Given the description of an element on the screen output the (x, y) to click on. 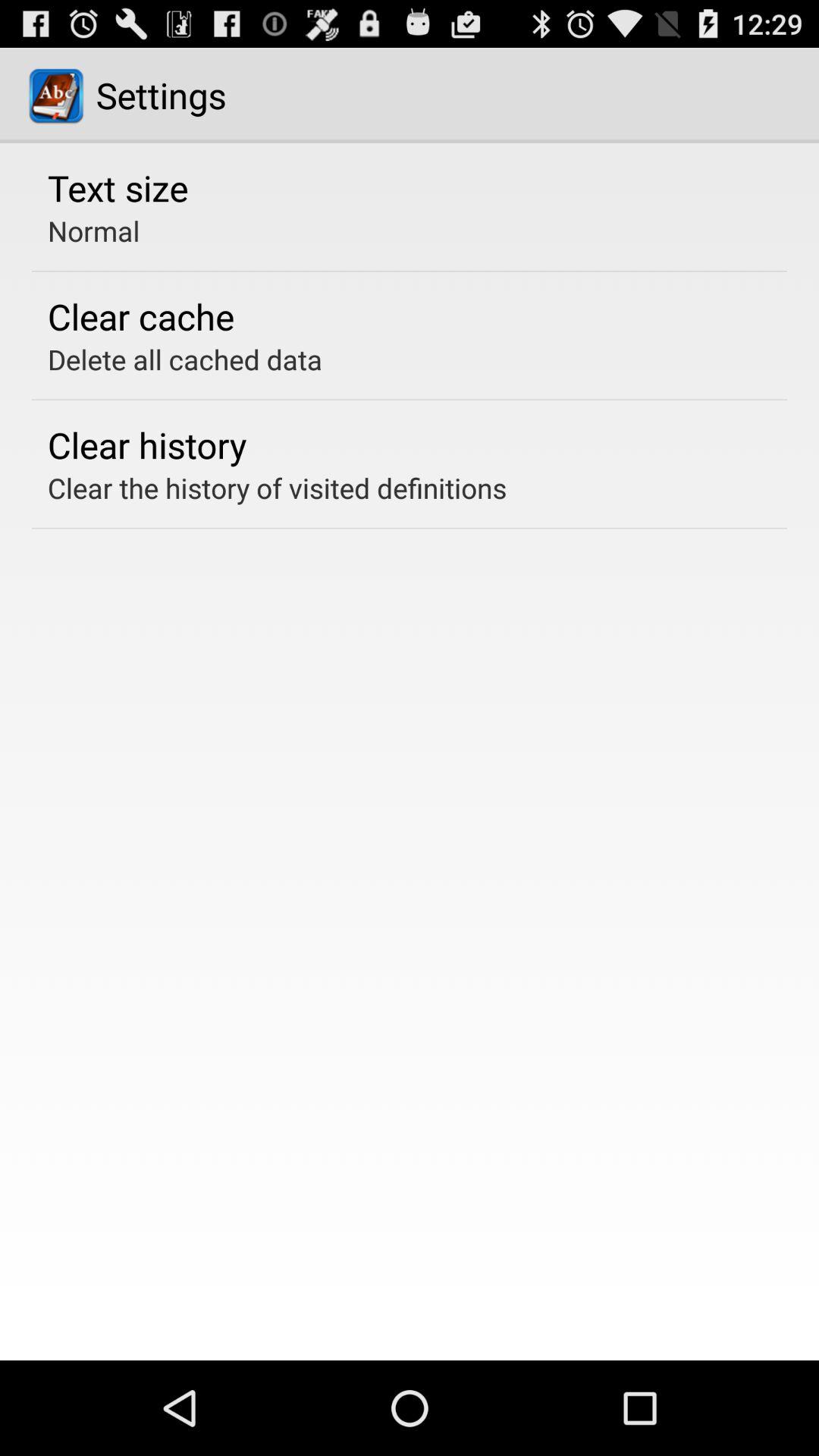
turn on clear cache app (140, 316)
